Given the description of an element on the screen output the (x, y) to click on. 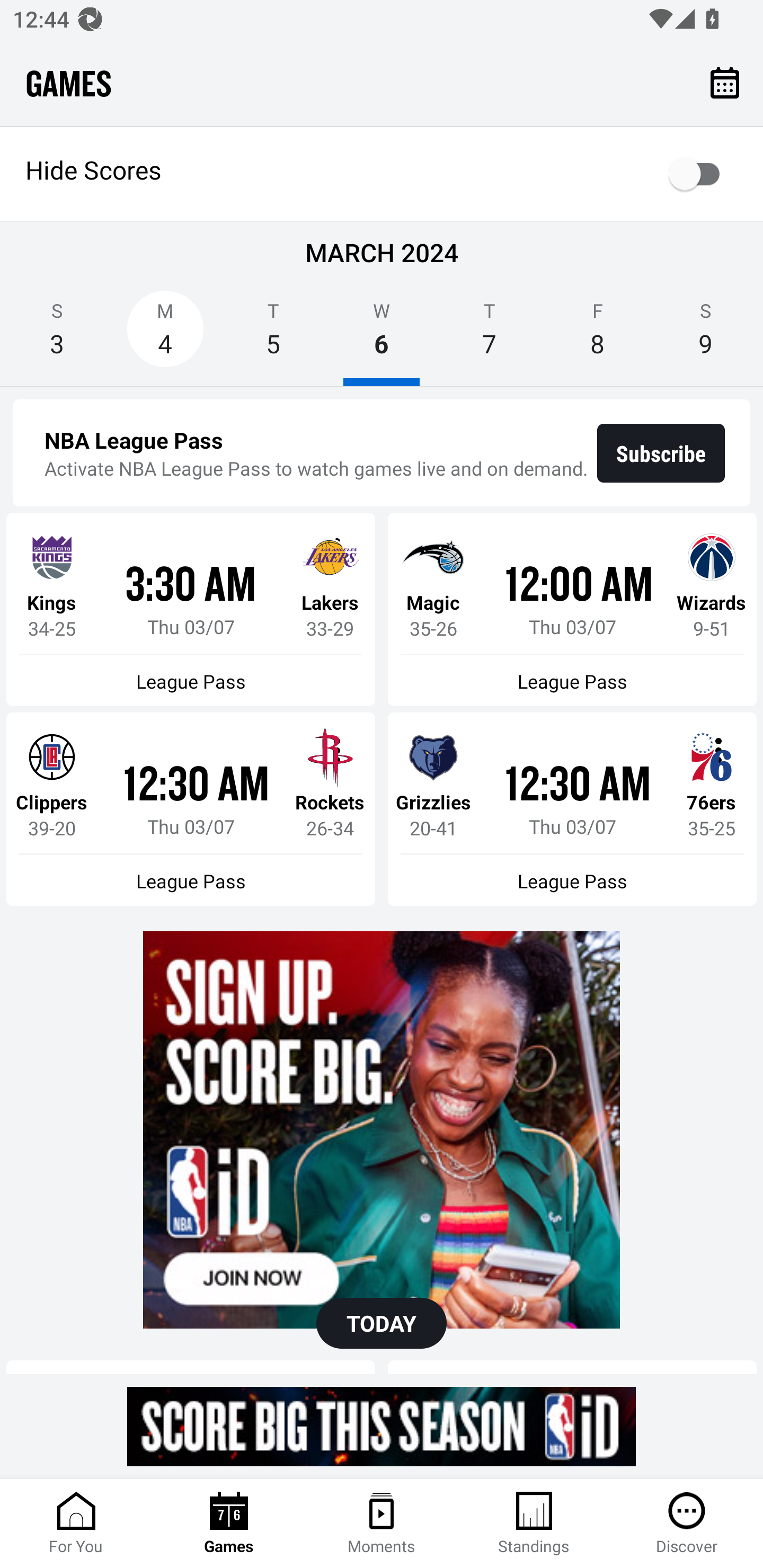
Calendar (724, 81)
Hide Scores (381, 174)
S 3 (57, 334)
M 4 (165, 334)
T 5 (273, 334)
W 6 (381, 334)
T 7 (489, 334)
F 8 (597, 334)
S 9 (705, 334)
Subscribe (660, 452)
TODAY (381, 1323)
For You (76, 1523)
Moments (381, 1523)
Standings (533, 1523)
Discover (686, 1523)
